Given the description of an element on the screen output the (x, y) to click on. 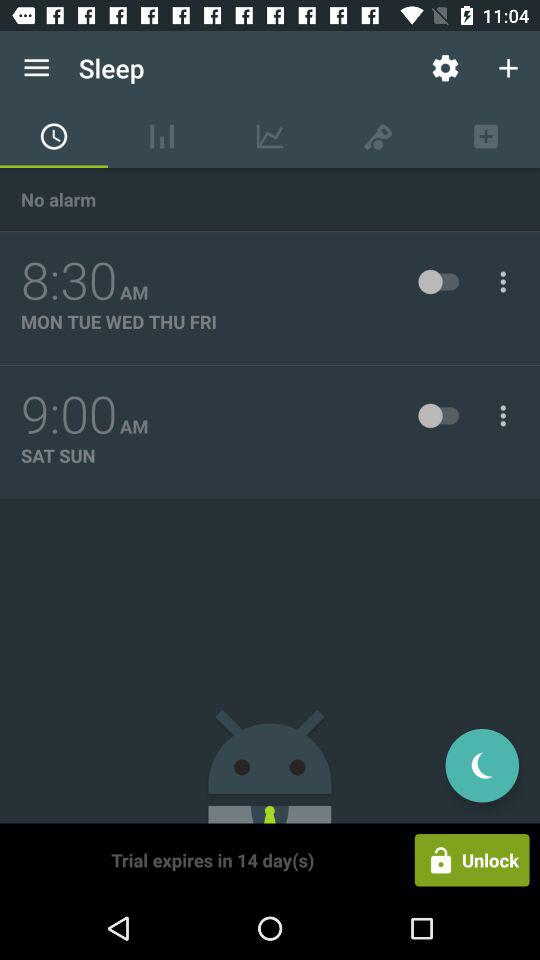
press icon below the no alarm item (69, 281)
